Given the description of an element on the screen output the (x, y) to click on. 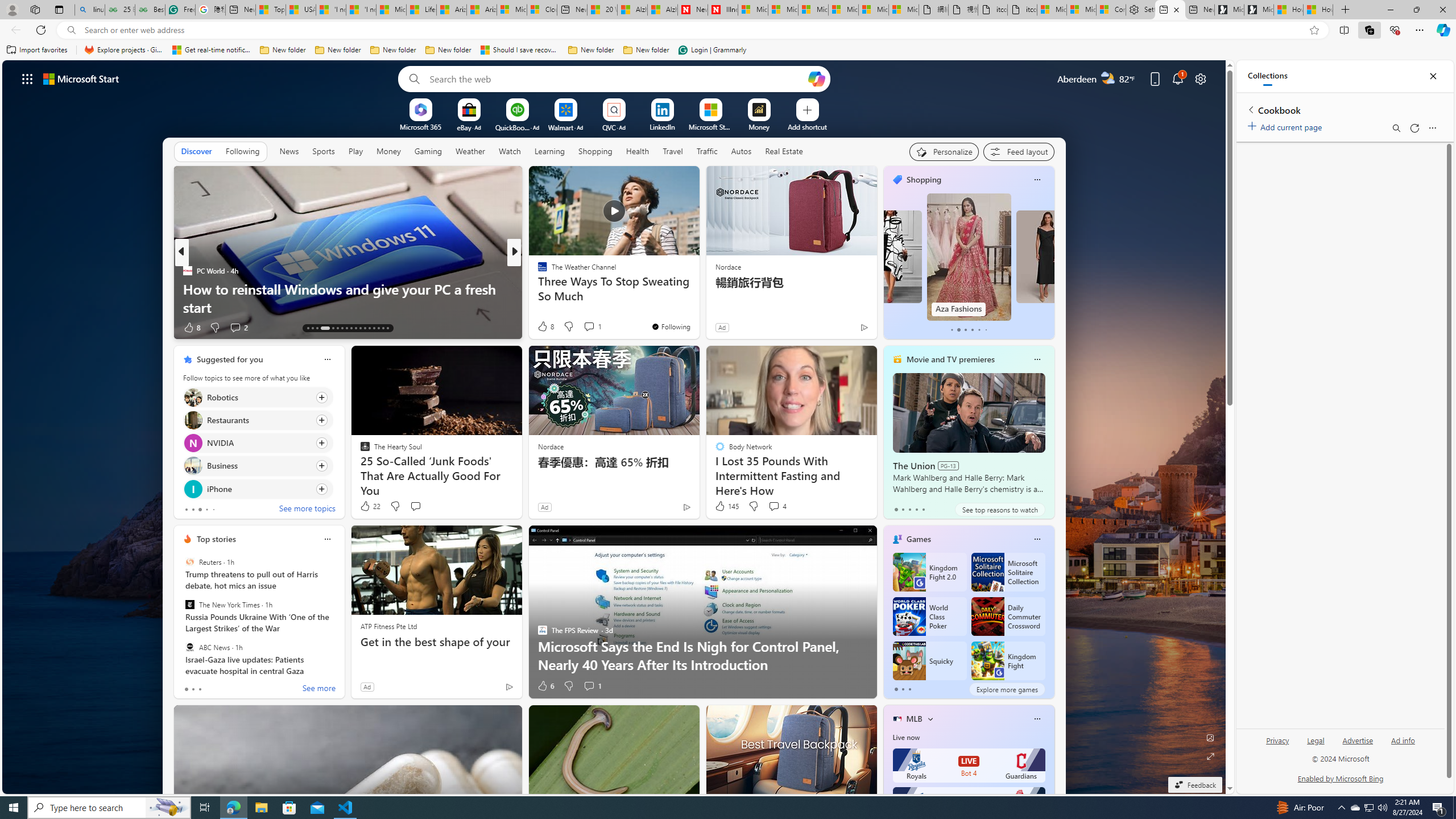
Get in the best shape of your (435, 641)
To get missing image descriptions, open the context menu. (420, 109)
Microsoft Services Agreement (782, 9)
Money (388, 151)
I Lost 100 Pounds by Eating the Meal I Love (697, 307)
AutomationID: tab-28 (382, 328)
View comments 319 Comment (595, 327)
Real Estate (783, 151)
AutomationID: tab-15 (317, 328)
View comments 3 Comment (596, 327)
